Given the description of an element on the screen output the (x, y) to click on. 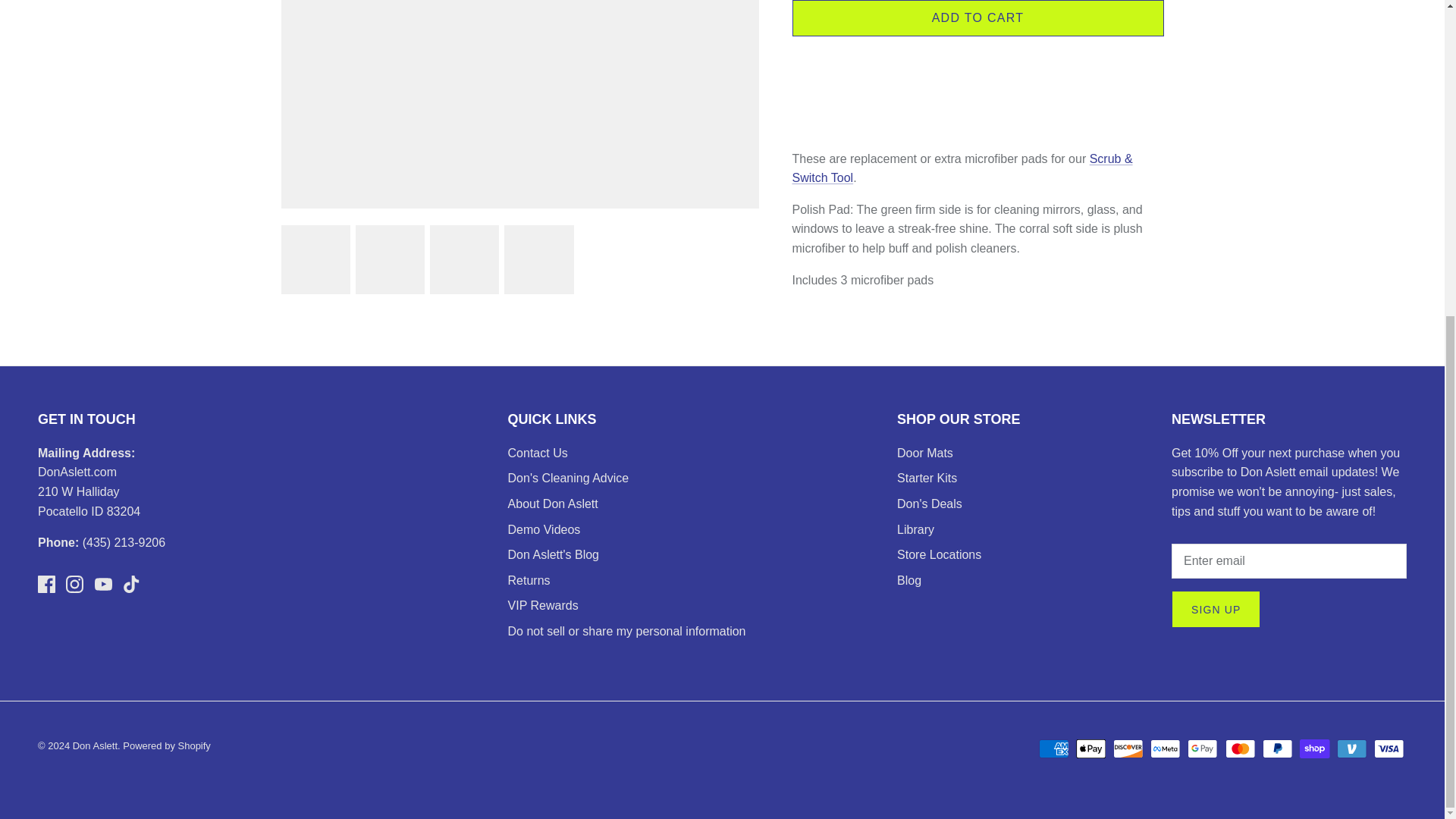
Instagram (73, 583)
Discover (1127, 748)
American Express (1053, 748)
Google Pay (1202, 748)
Mastercard (1240, 748)
Youtube (103, 583)
Meta Pay (1165, 748)
Apple Pay (1090, 748)
Facebook (46, 583)
